Given the description of an element on the screen output the (x, y) to click on. 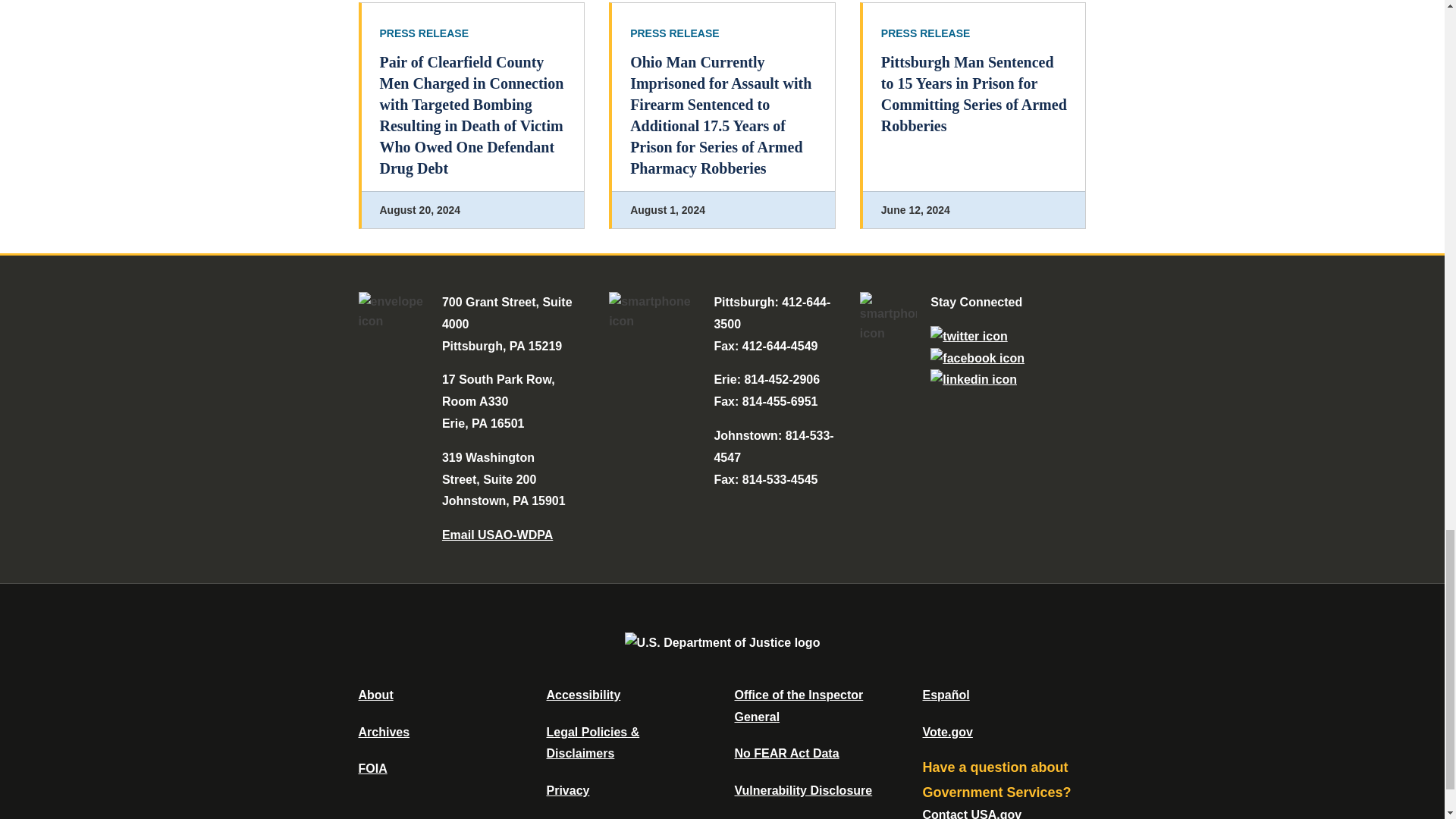
Department of Justice Archive (383, 731)
Accessibility Statement (583, 694)
Data Posted Pursuant To The No Fear Act (785, 753)
About DOJ (375, 694)
Office of Information Policy (372, 768)
Legal Policies and Disclaimers (592, 742)
Email USAO-WDPA (497, 534)
